Given the description of an element on the screen output the (x, y) to click on. 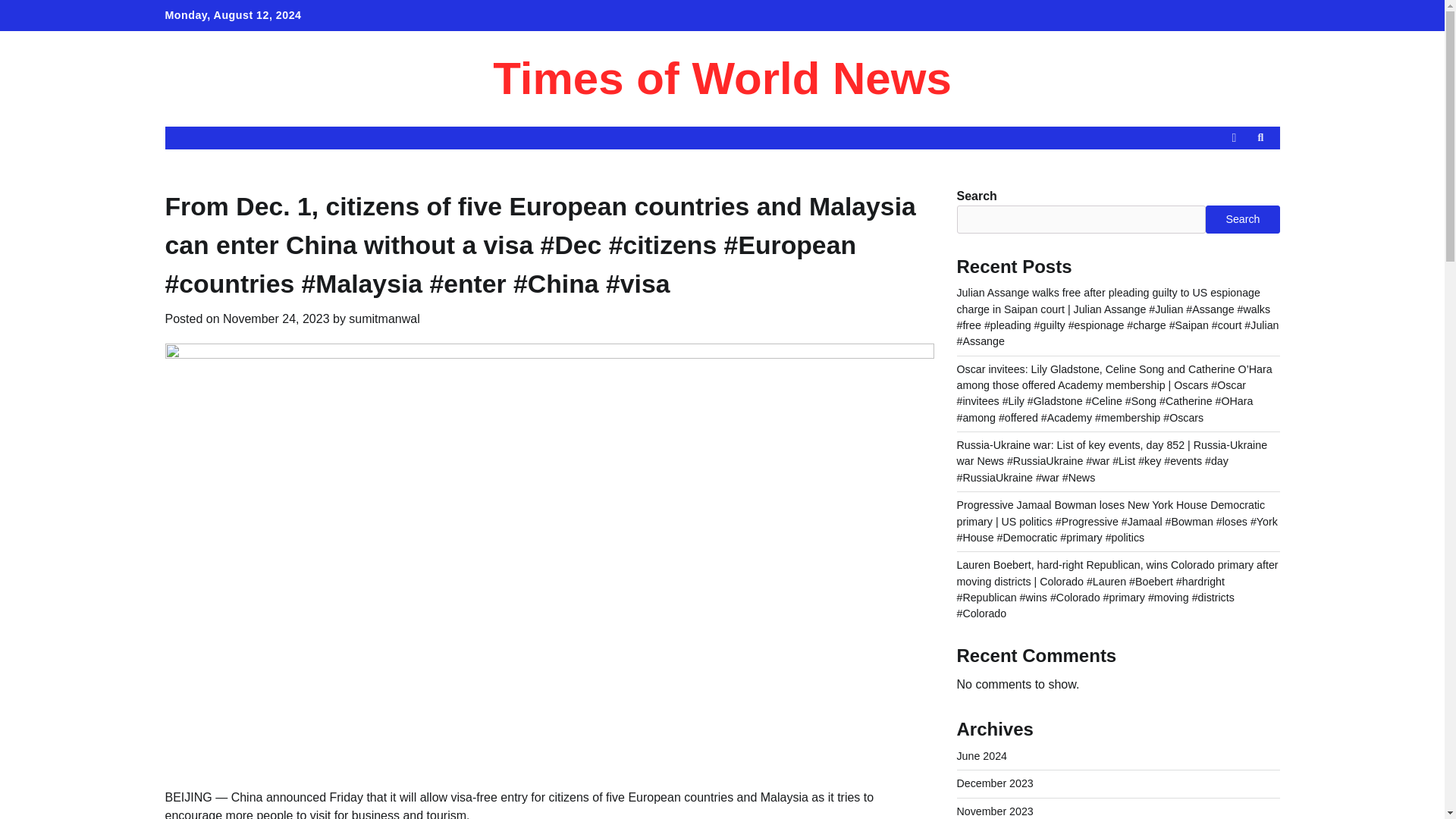
November 24, 2023 (276, 318)
June 2024 (981, 756)
November 2023 (994, 811)
sumitmanwal (384, 318)
Search (1260, 137)
View Random Post (1233, 137)
Search (1242, 218)
Search (1232, 173)
Times of World News (722, 78)
December 2023 (994, 783)
